Given the description of an element on the screen output the (x, y) to click on. 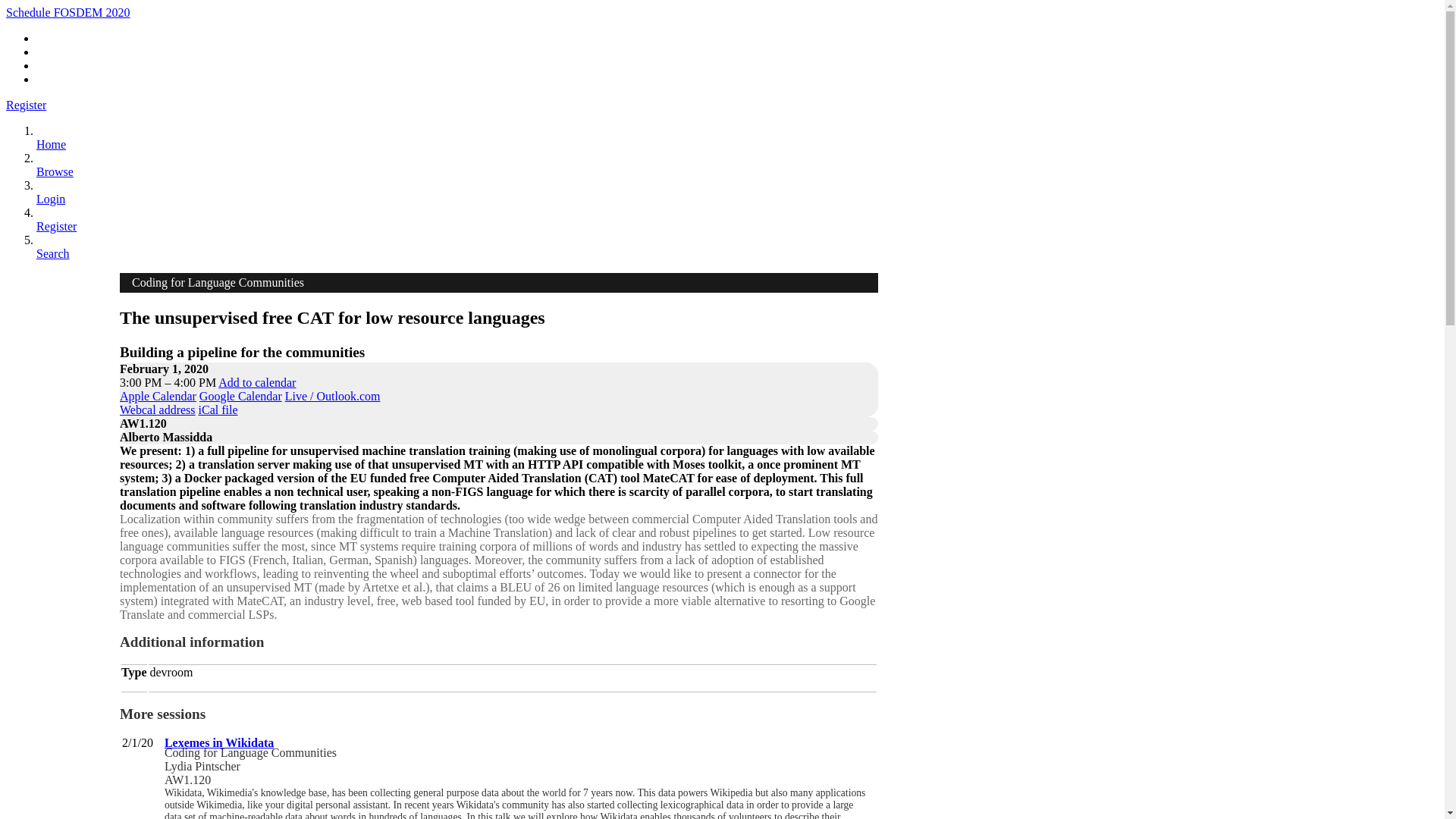
Search (52, 260)
Register (25, 104)
Webcal address (157, 409)
Schedule FOSDEM 2020 (68, 11)
Lexemes in Wikidata (218, 742)
Home (50, 151)
Browse (55, 178)
Apple Calendar (157, 395)
Register (56, 233)
Login (50, 205)
